Given the description of an element on the screen output the (x, y) to click on. 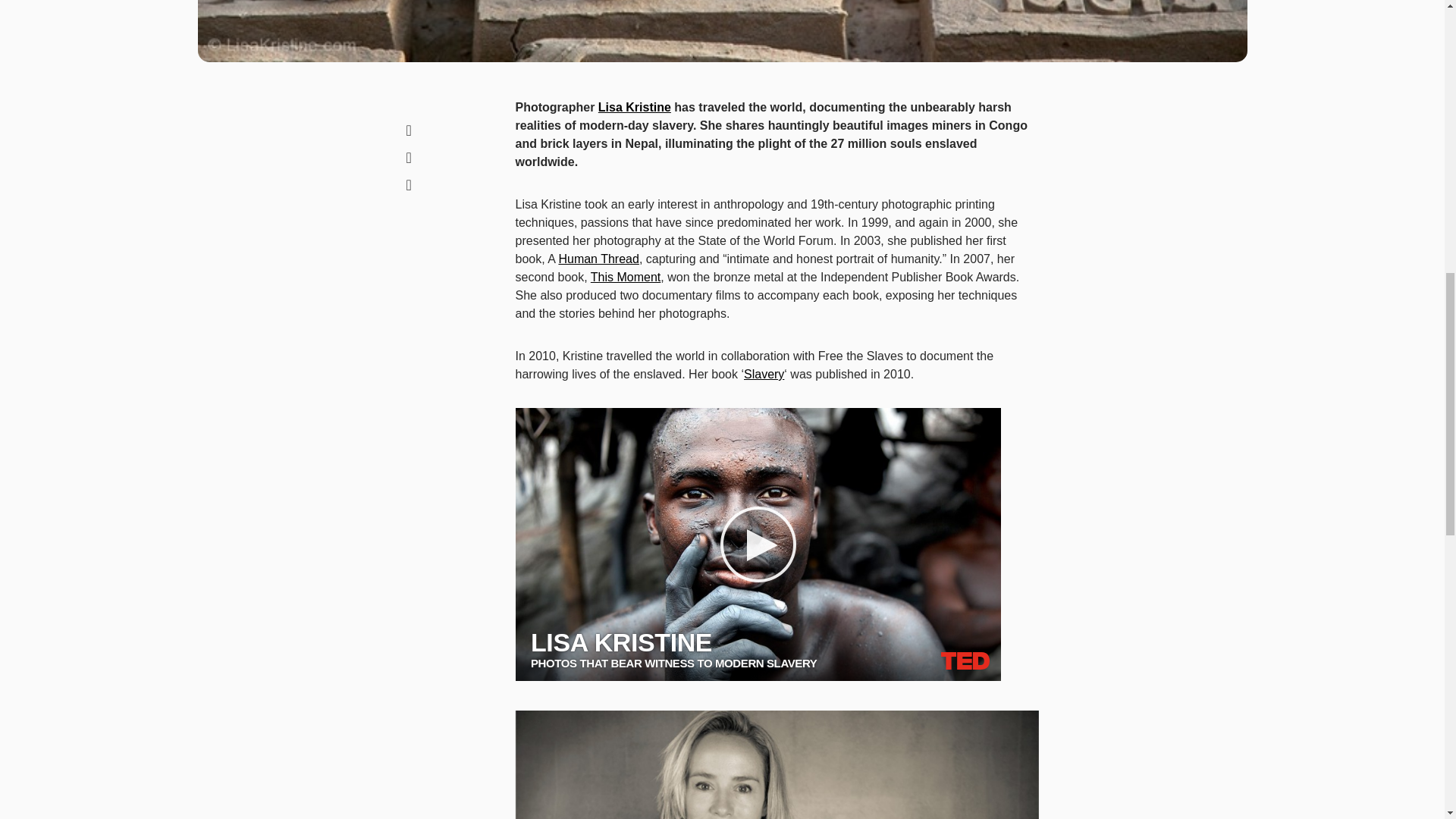
This Moment (626, 277)
Human Thread (598, 258)
Lisa Kristine (634, 106)
